Given the description of an element on the screen output the (x, y) to click on. 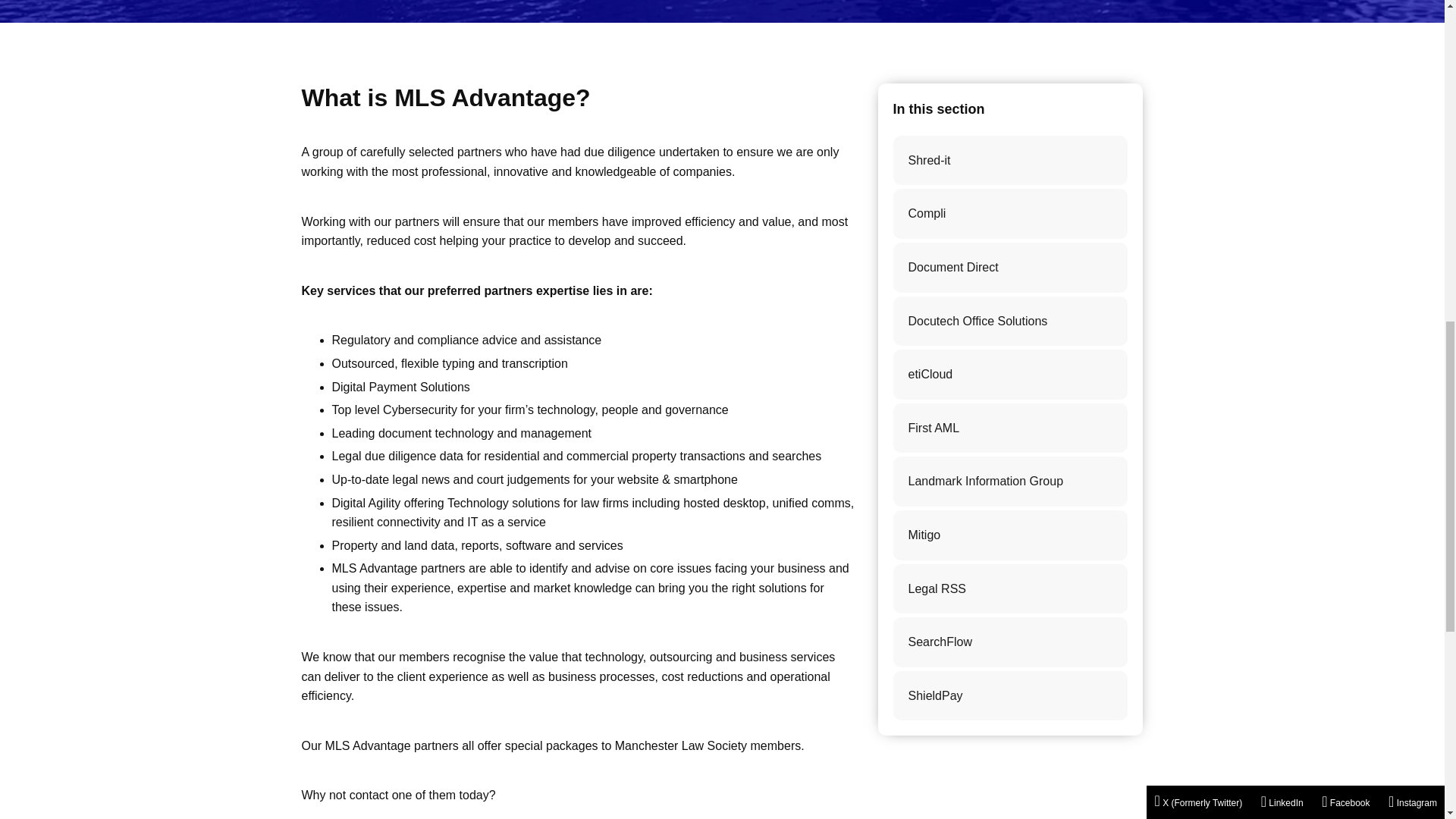
Legal RSS (1010, 589)
First AML (1010, 428)
SearchFlow (1010, 642)
Landmark Information Group (1010, 481)
Compli (1010, 214)
etiCloud (1010, 374)
Document Direct (1010, 267)
Mitigo (1010, 535)
ShieldPay (1010, 695)
Shred-it (1010, 160)
